Given the description of an element on the screen output the (x, y) to click on. 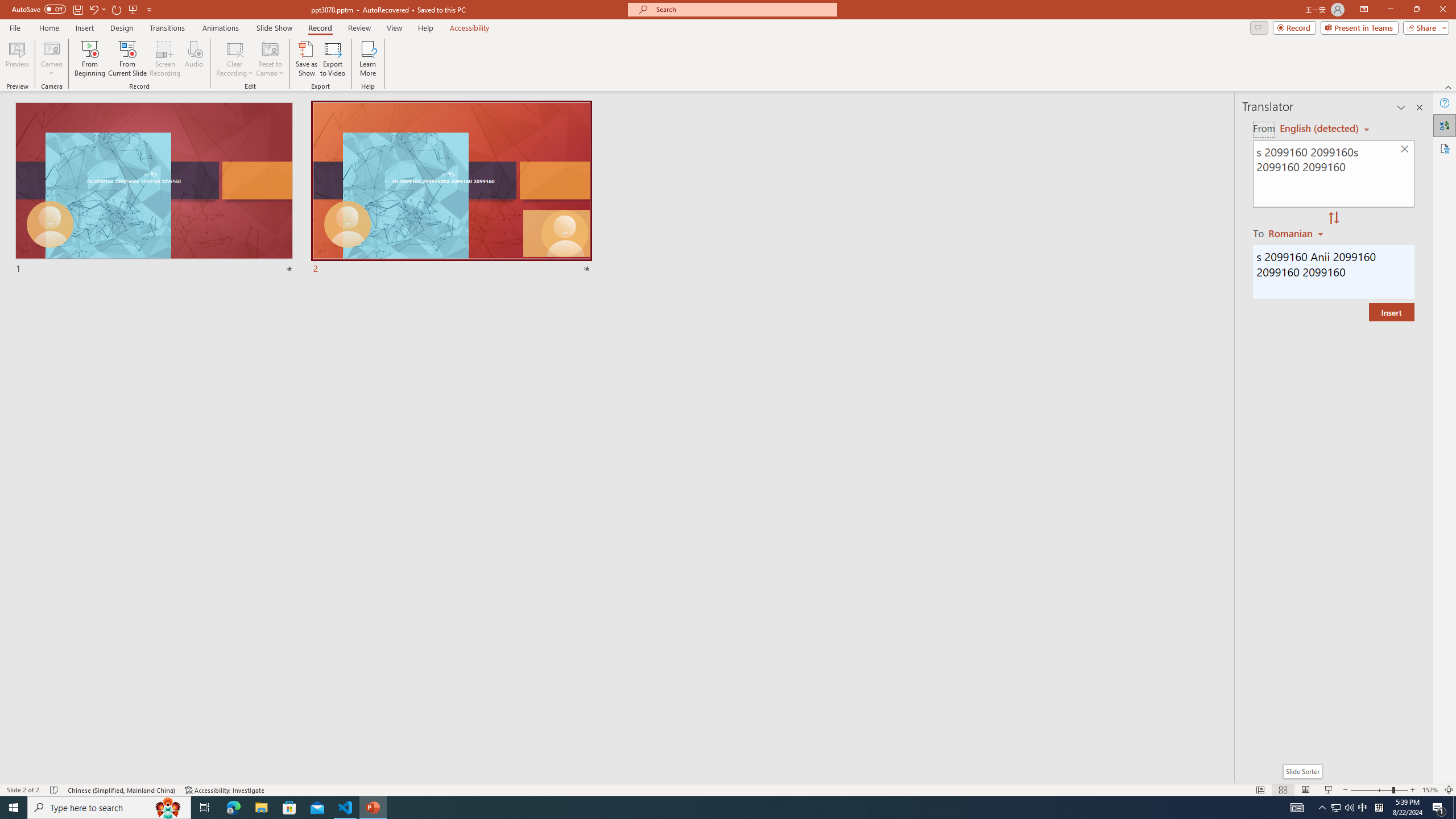
Screen Recording (165, 58)
Reset to Cameo (269, 58)
